Given the description of an element on the screen output the (x, y) to click on. 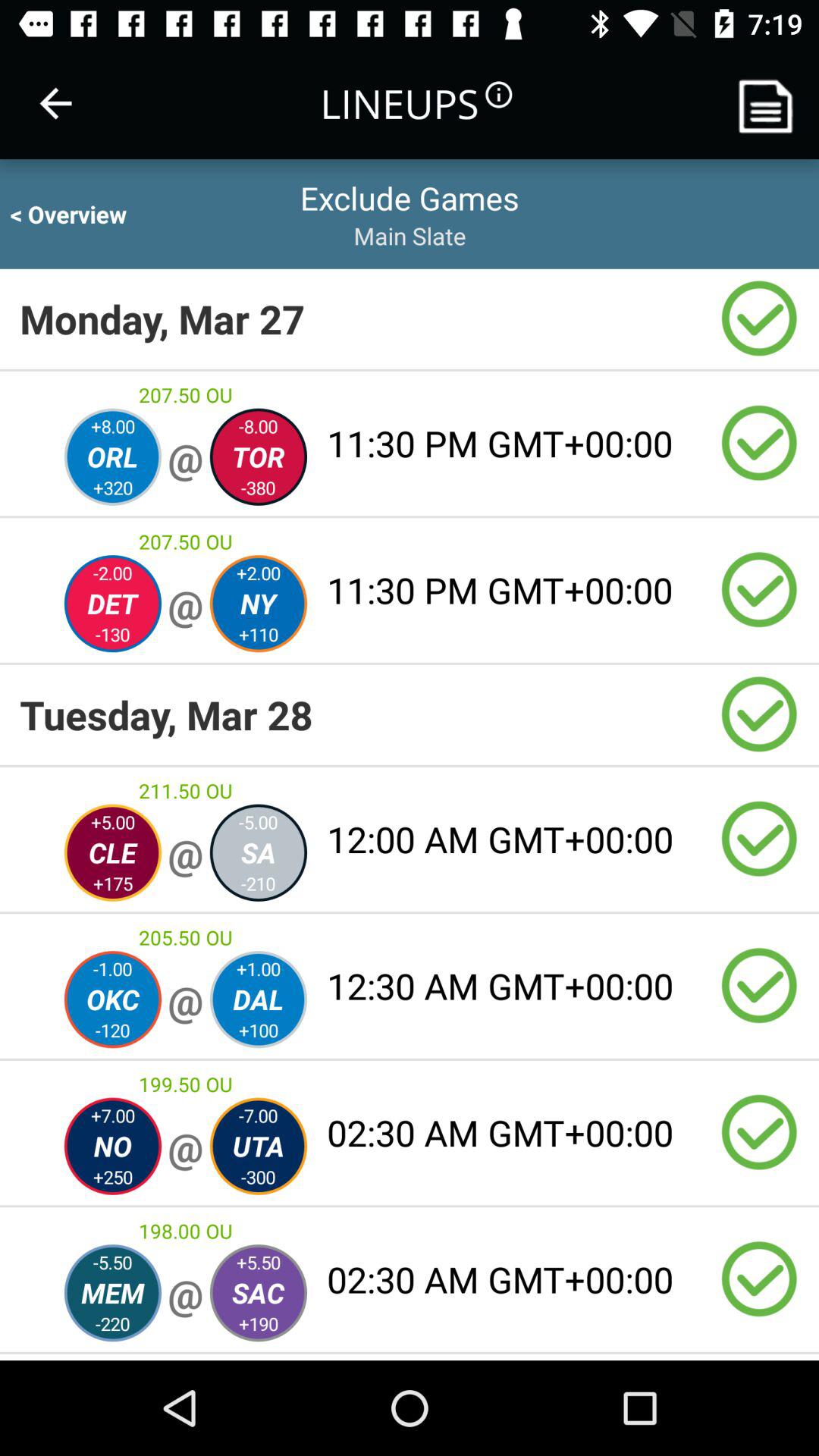
select the two lines which is just beside overview (409, 213)
select the left circle which is below the 19950 ou (112, 1146)
select the right circle which is below the 19950 ou (258, 1146)
select the information  icon (497, 95)
click on the sixth check mark (759, 986)
